Given the description of an element on the screen output the (x, y) to click on. 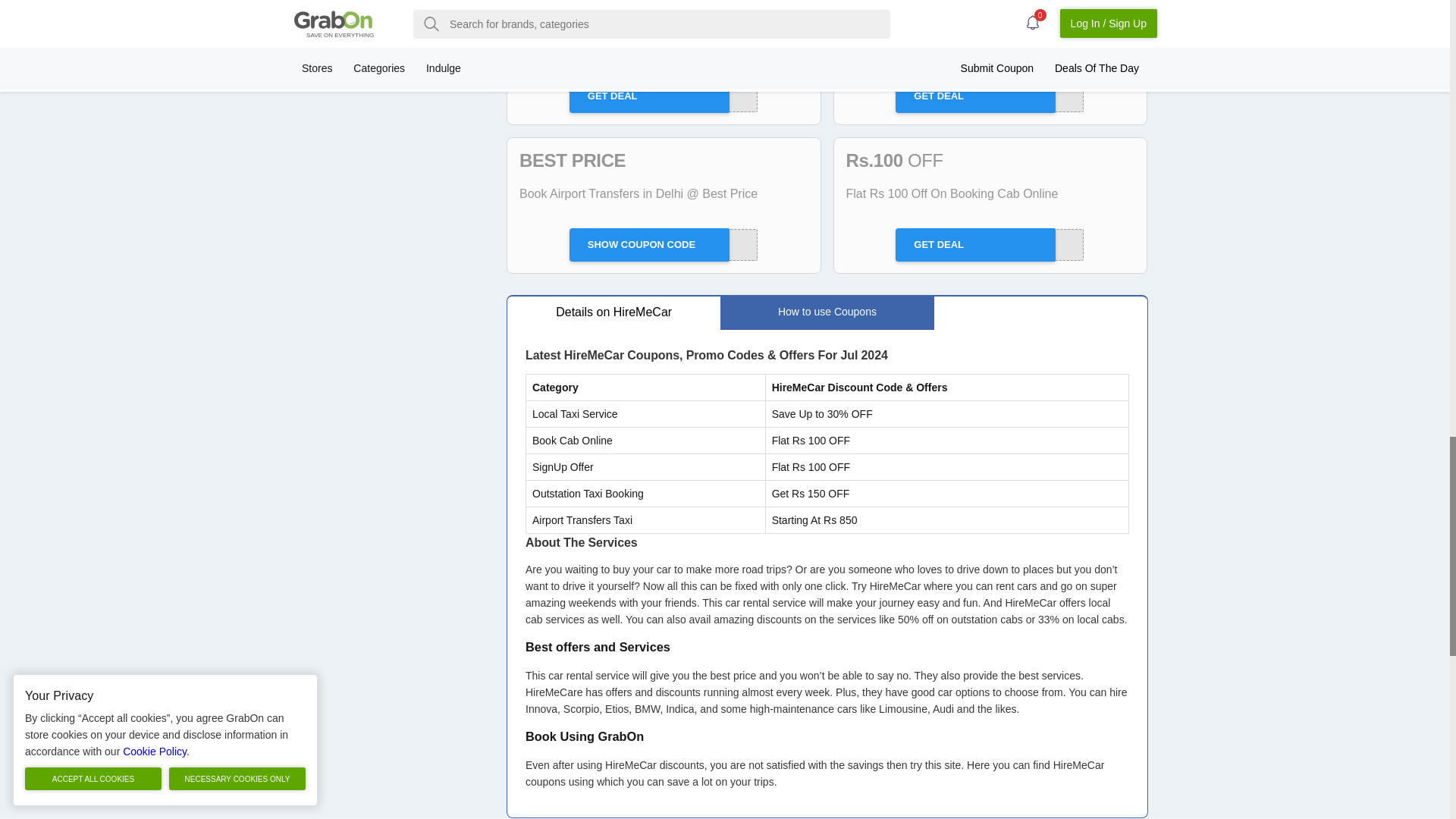
SHOW COUPON CODE (989, 245)
